Given the description of an element on the screen output the (x, y) to click on. 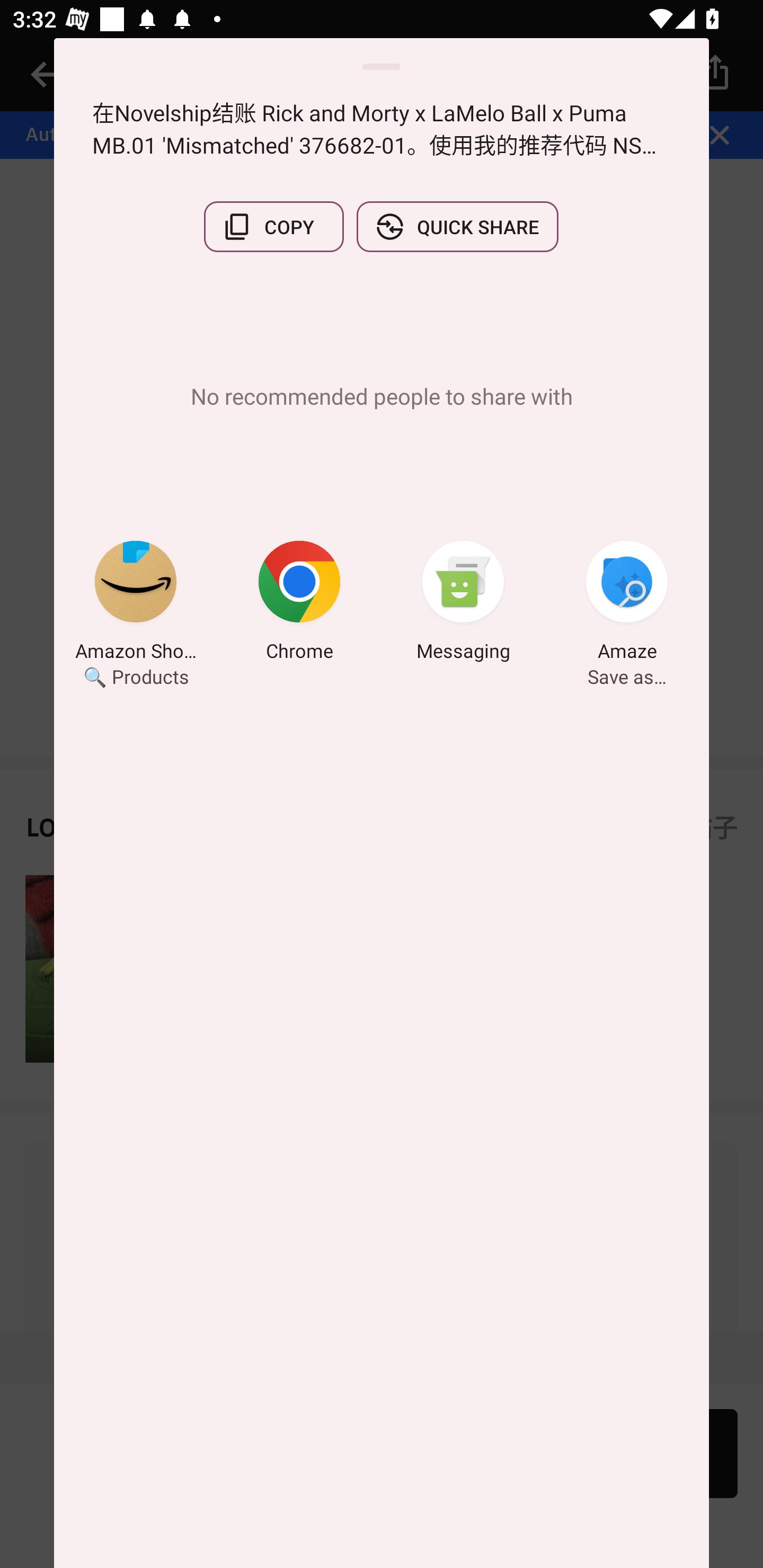
COPY (273, 226)
QUICK SHARE (457, 226)
Amazon Shopping 🔍 Products (135, 603)
Chrome (299, 603)
Messaging (463, 603)
Amaze Save as… (626, 603)
